Given the description of an element on the screen output the (x, y) to click on. 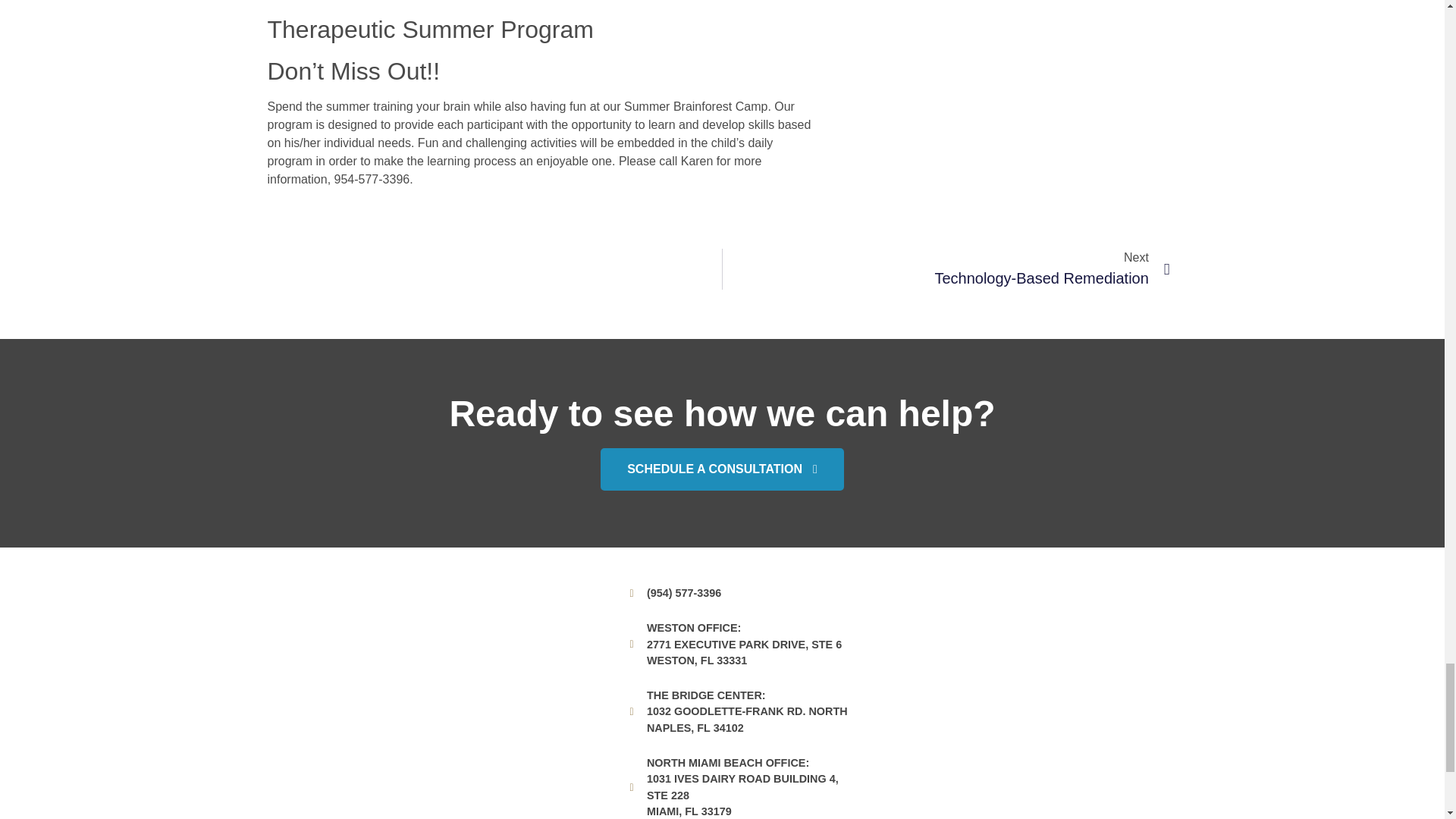
SCHEDULE A CONSULTATION (721, 468)
